Given the description of an element on the screen output the (x, y) to click on. 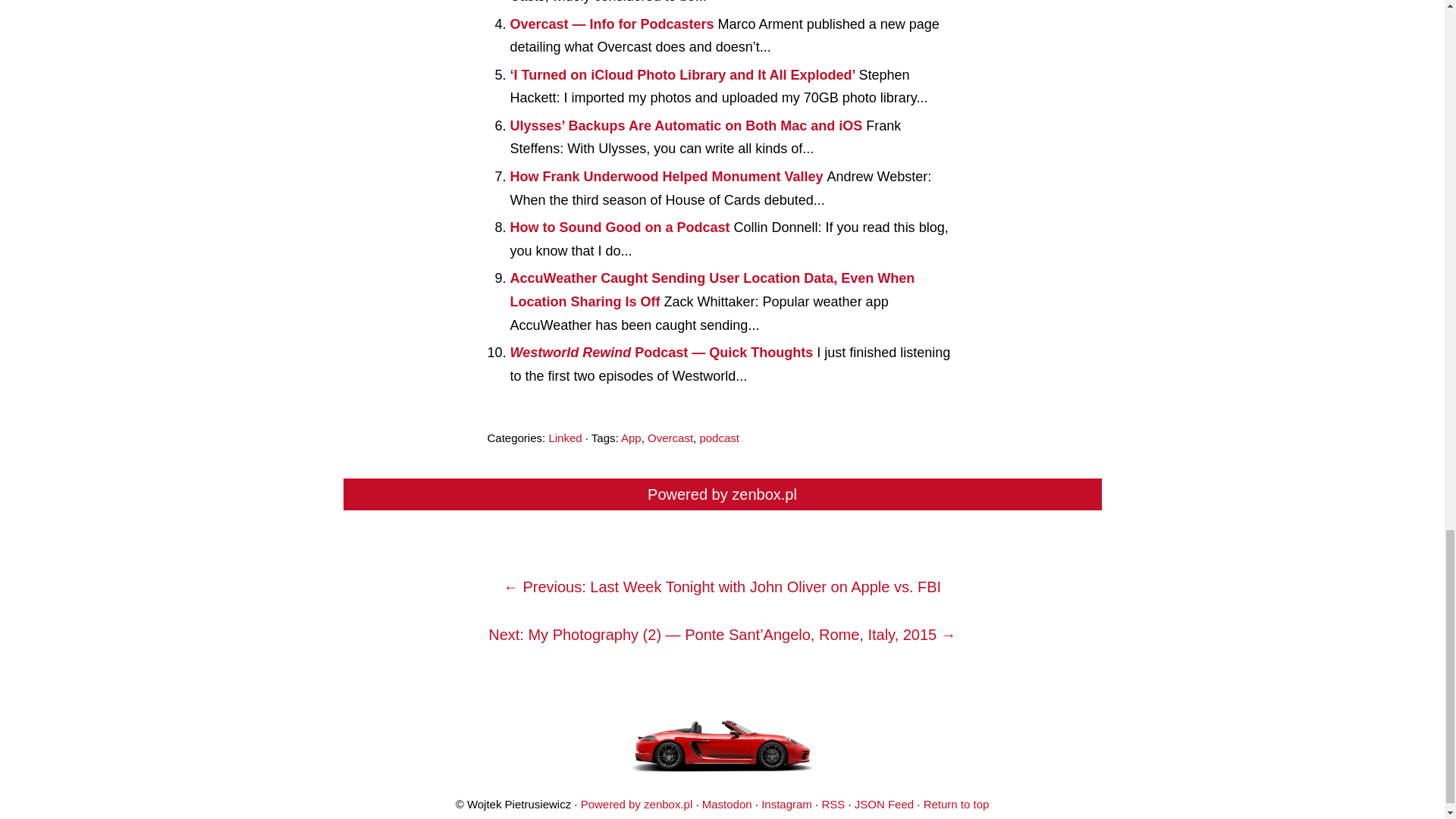
Linked (564, 437)
How Frank Underwood Helped Monument Valley (668, 176)
Mastodon (726, 803)
Powered by zenbox.pl (721, 494)
How to Sound Good on a Podcast (621, 227)
Powered by zenbox.pl (636, 803)
Overcast (670, 437)
podcast (718, 437)
App (631, 437)
How Frank Underwood Helped Monument Valley (668, 176)
